Given the description of an element on the screen output the (x, y) to click on. 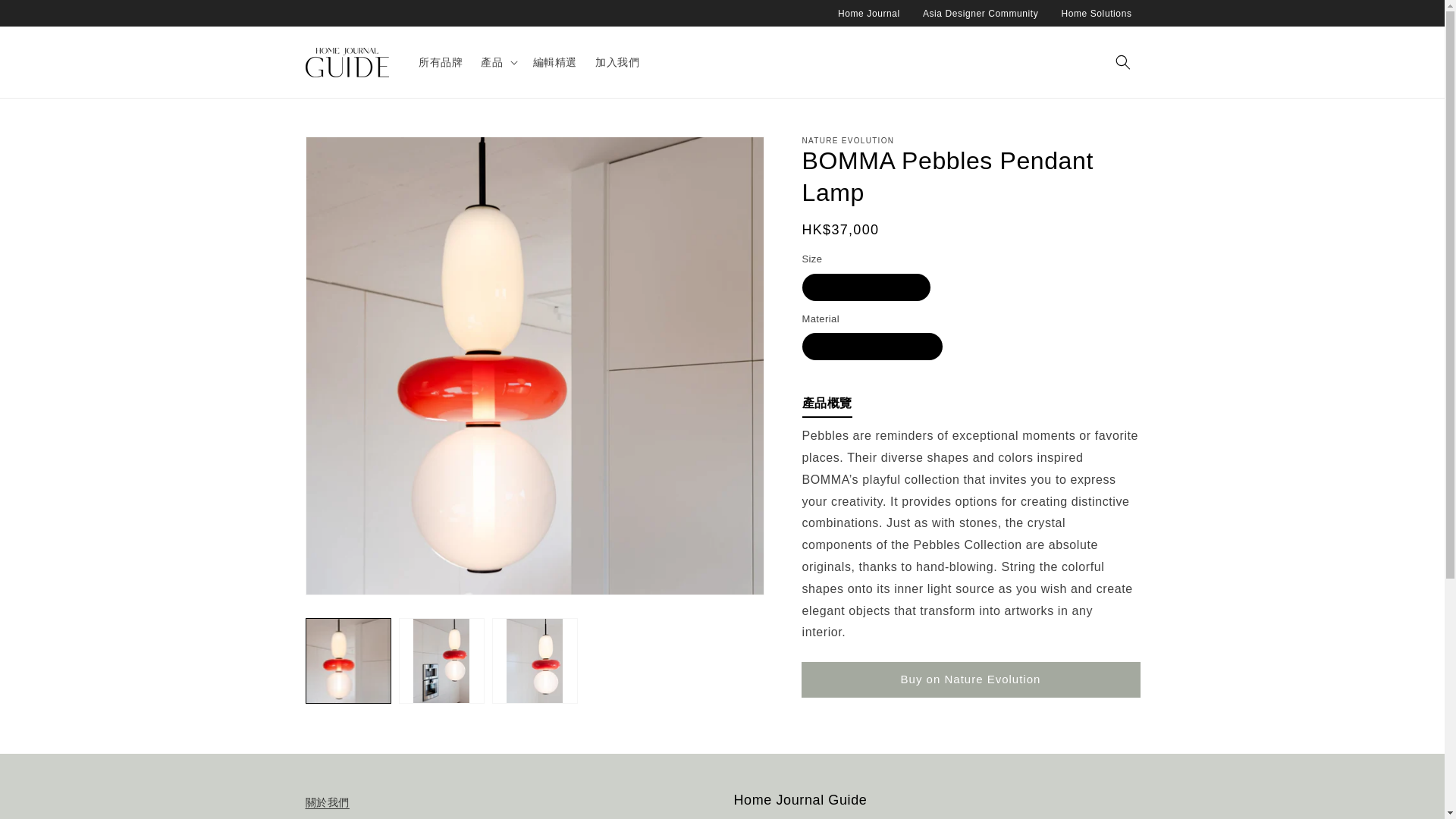
Asia Designer Community (981, 13)
Home Journal (868, 13)
Home Solutions (1096, 13)
NATURE EVOLUTION (848, 140)
